Given the description of an element on the screen output the (x, y) to click on. 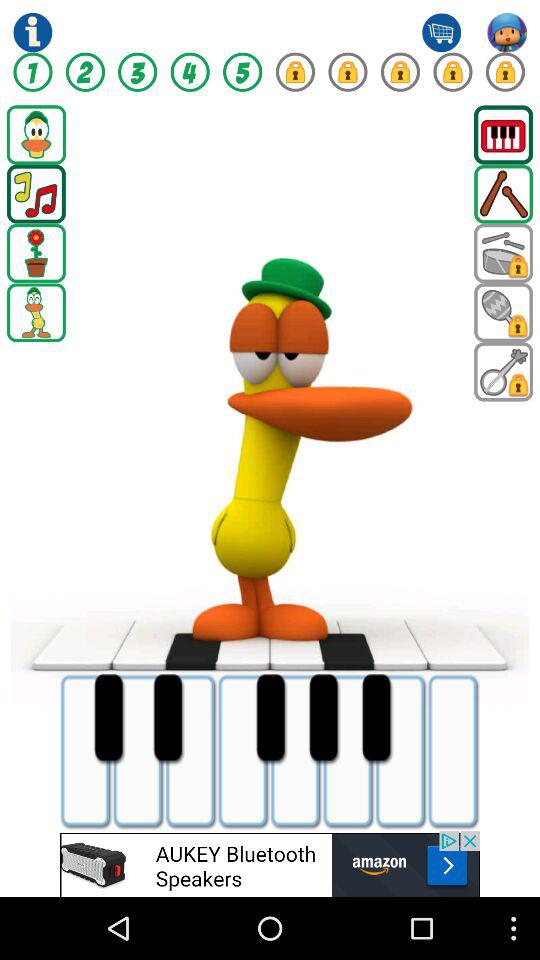
click on the number 2 which is to the right of number 1 (84, 72)
